Given the description of an element on the screen output the (x, y) to click on. 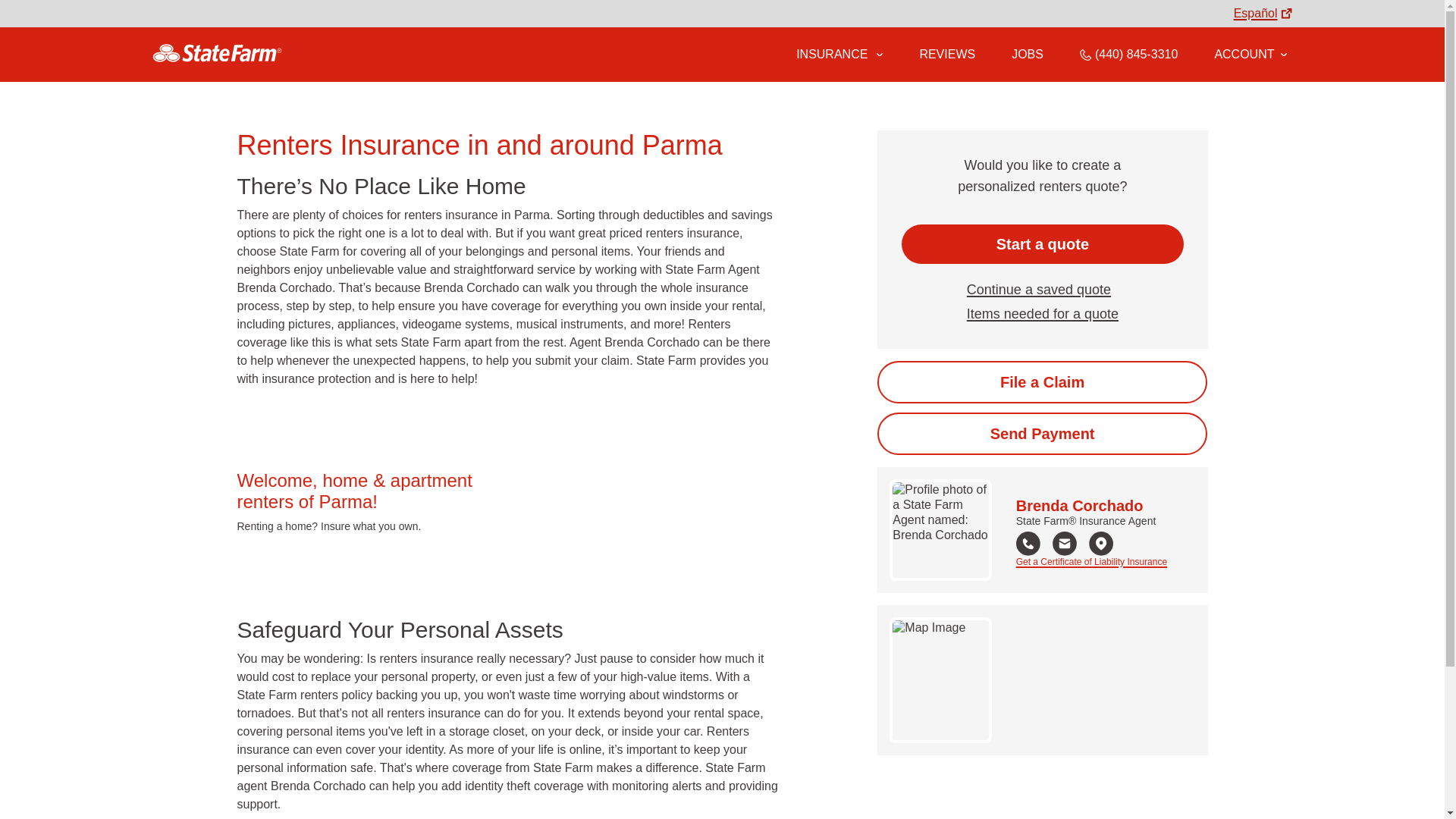
INSURANCE (830, 54)
JOBS (1027, 54)
ACCOUNT (1250, 54)
Account Options (1250, 54)
Start the claim process online (1042, 382)
Insurance (839, 54)
REVIEWS (946, 54)
